Given the description of an element on the screen output the (x, y) to click on. 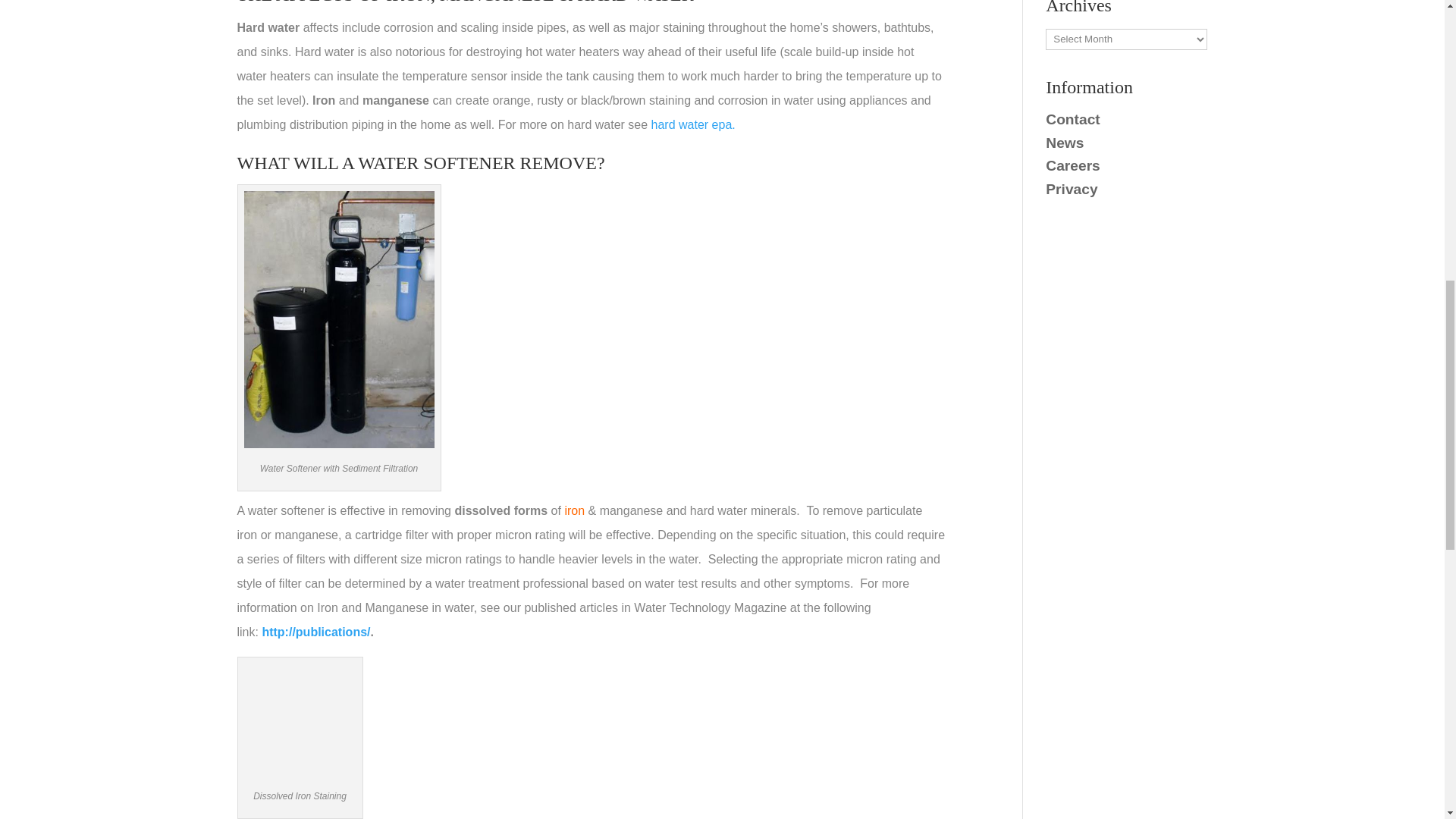
hard water epa. (692, 124)
